Given the description of an element on the screen output the (x, y) to click on. 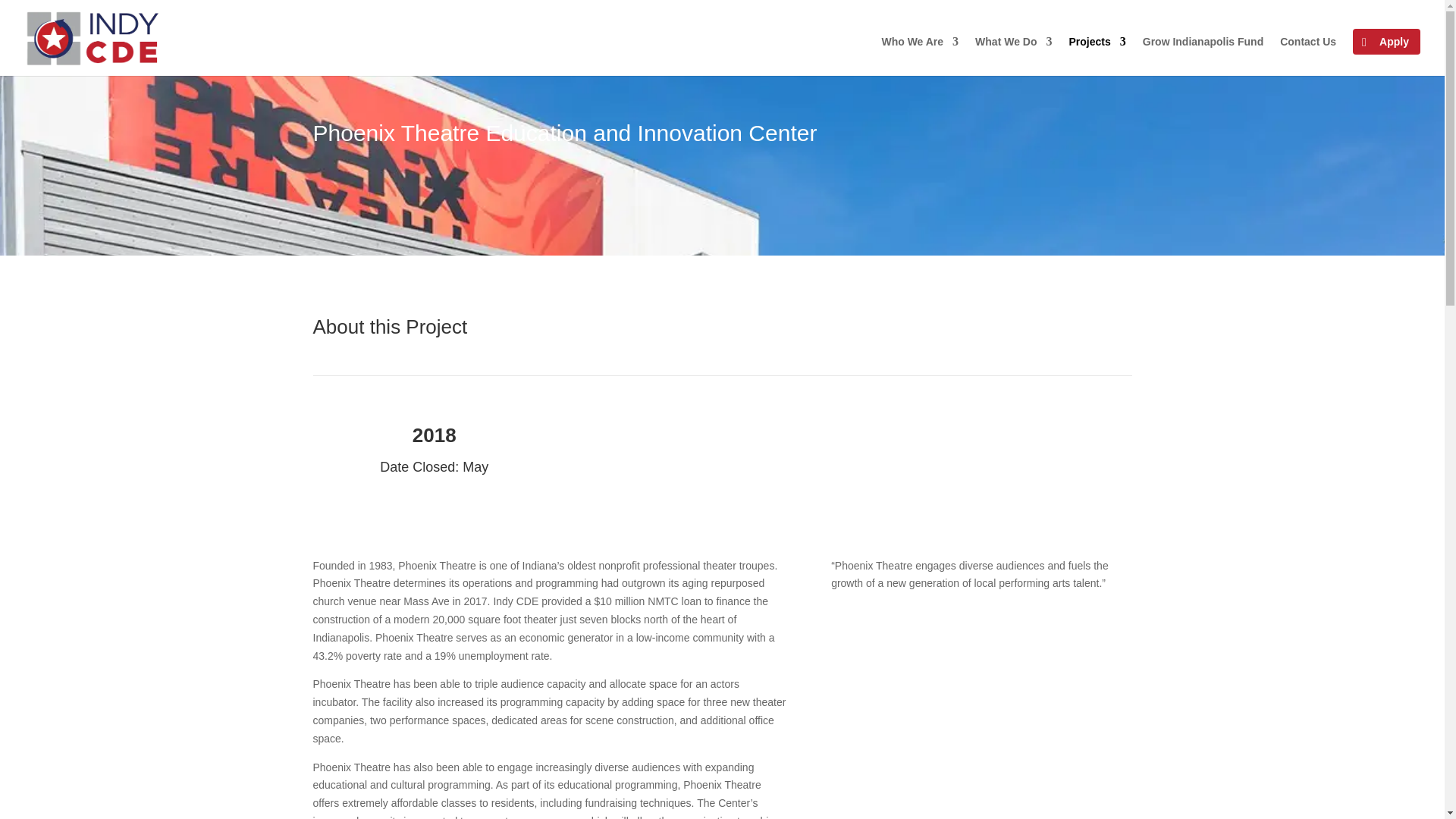
What We Do (1013, 56)
Who We Are (919, 56)
Contact Us (1307, 56)
Projects (1096, 56)
Apply (1386, 41)
Grow Indianapolis Fund (1202, 56)
